Given the description of an element on the screen output the (x, y) to click on. 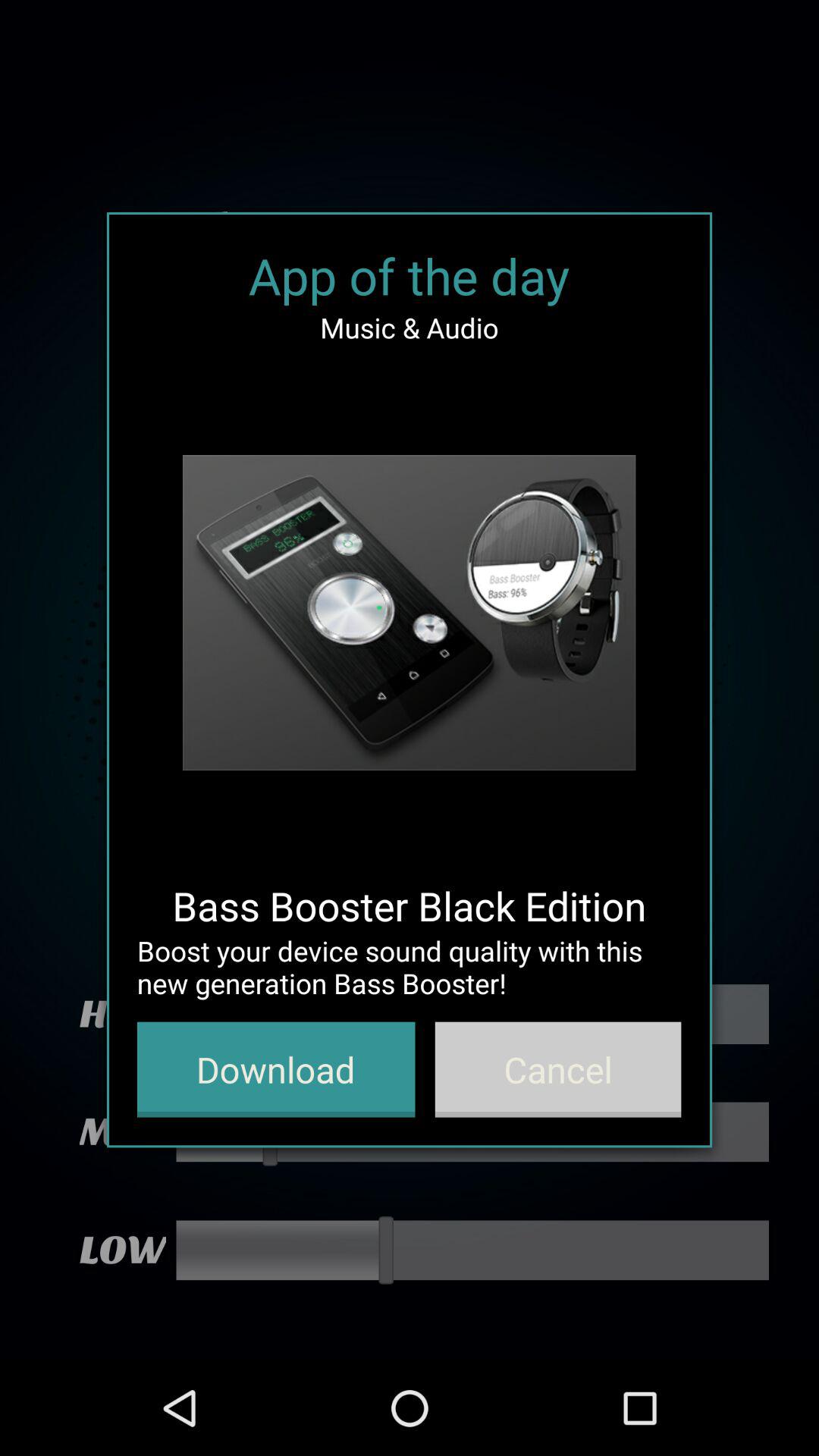
open the item next to the cancel item (276, 1069)
